Given the description of an element on the screen output the (x, y) to click on. 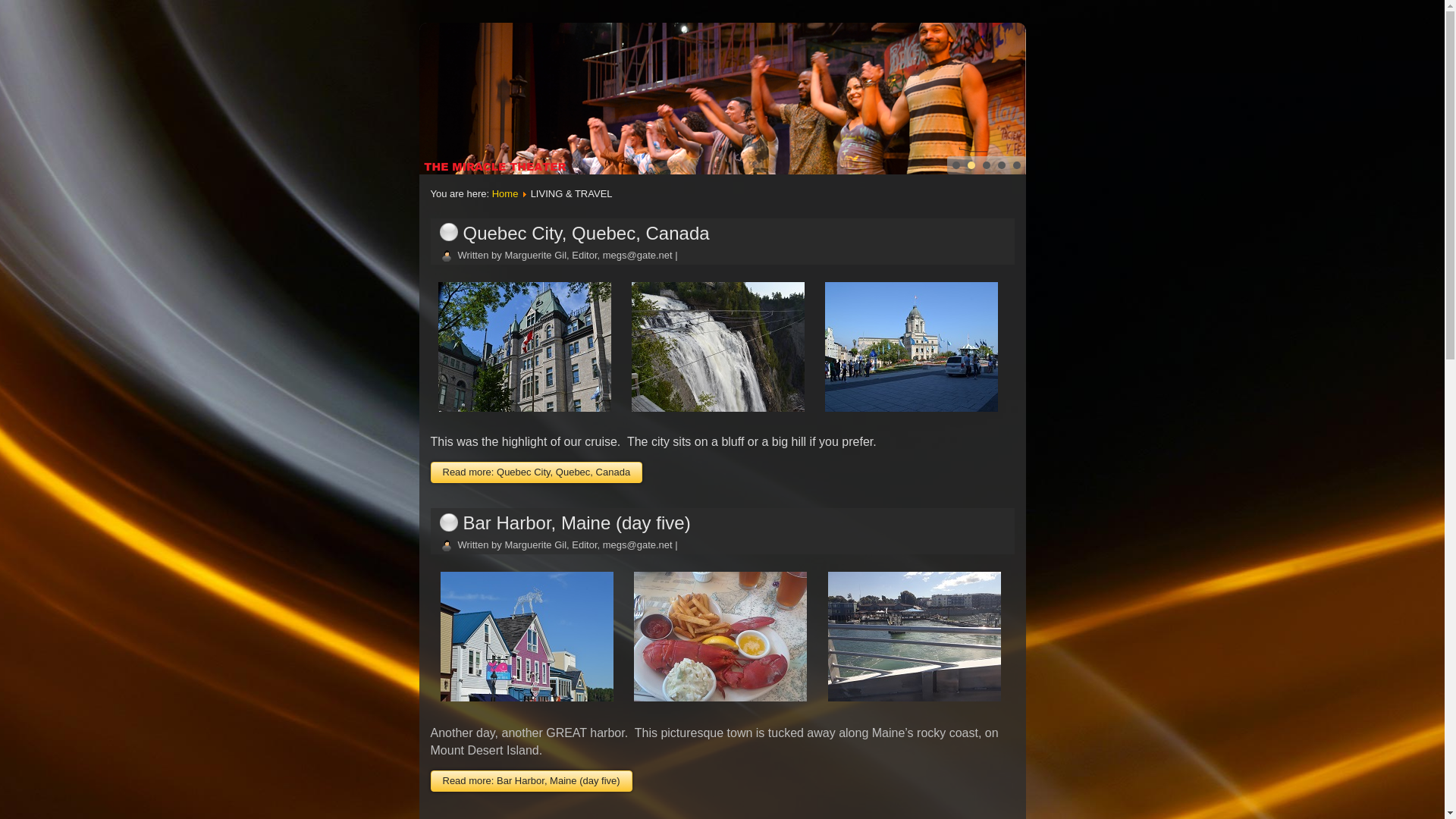
Home (505, 193)
Read more: Quebec City, Quebec, Canada (536, 472)
